Given the description of an element on the screen output the (x, y) to click on. 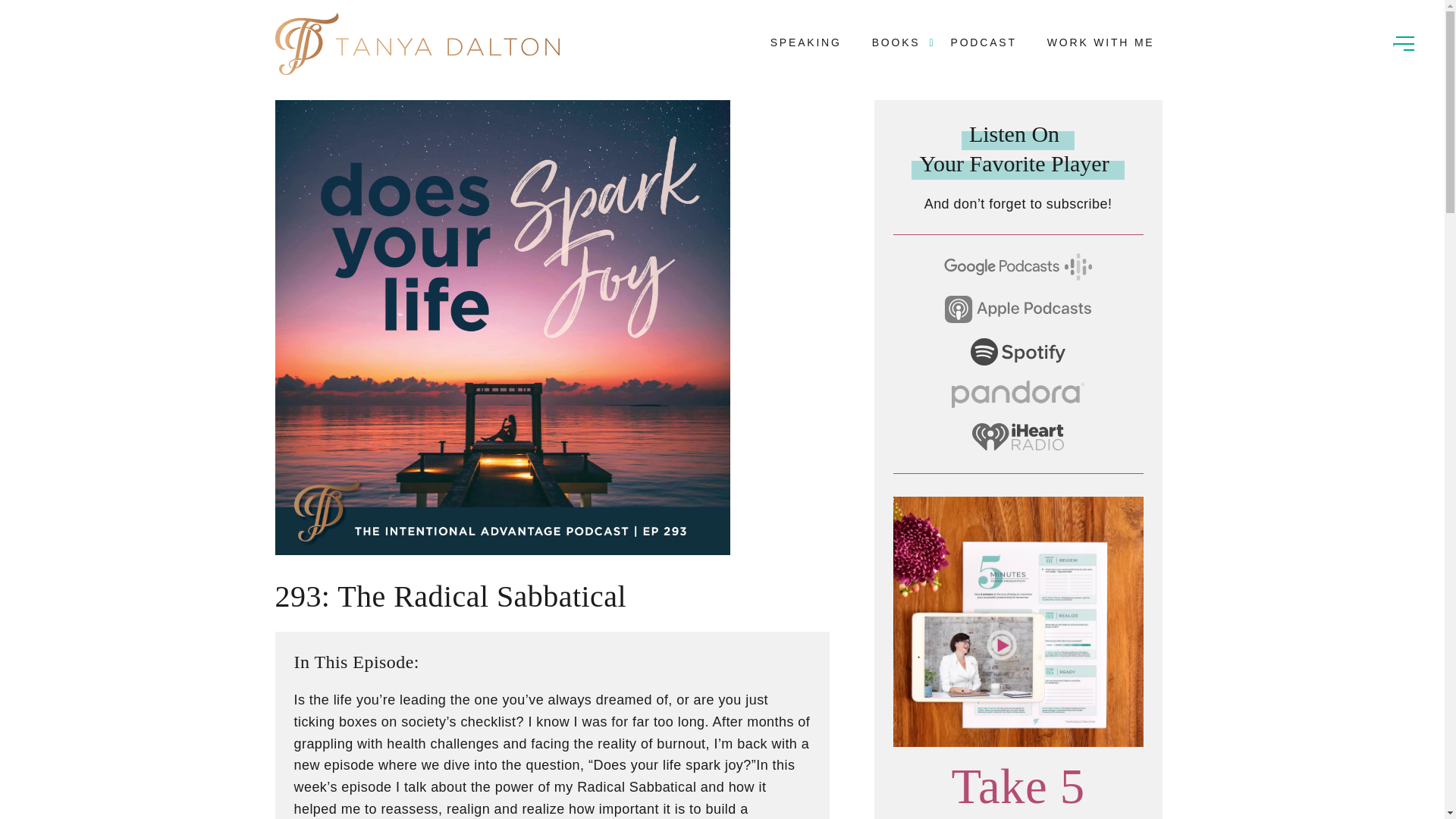
PODCAST (983, 42)
BOOKS (896, 42)
WORK WITH ME (1100, 42)
MENU (1403, 41)
SKIP TO THE CONTENT (72, 14)
SPEAKING (805, 42)
